Given the description of an element on the screen output the (x, y) to click on. 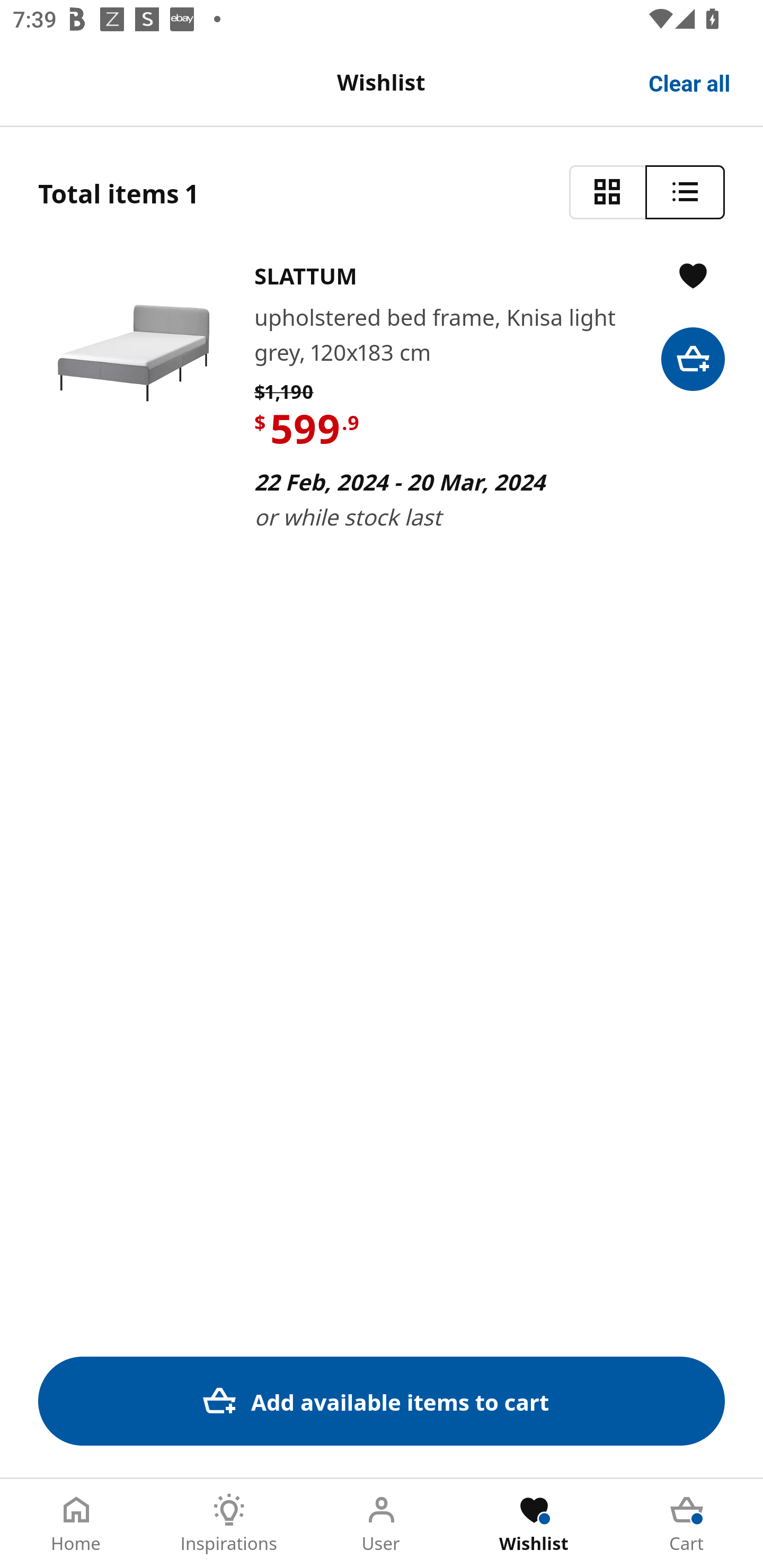
Clear all (689, 81)
Add available items to cart (381, 1400)
Home
Tab 1 of 5 (76, 1522)
Inspirations
Tab 2 of 5 (228, 1522)
User
Tab 3 of 5 (381, 1522)
Wishlist
Tab 4 of 5 (533, 1522)
Cart
Tab 5 of 5 (686, 1522)
